Given the description of an element on the screen output the (x, y) to click on. 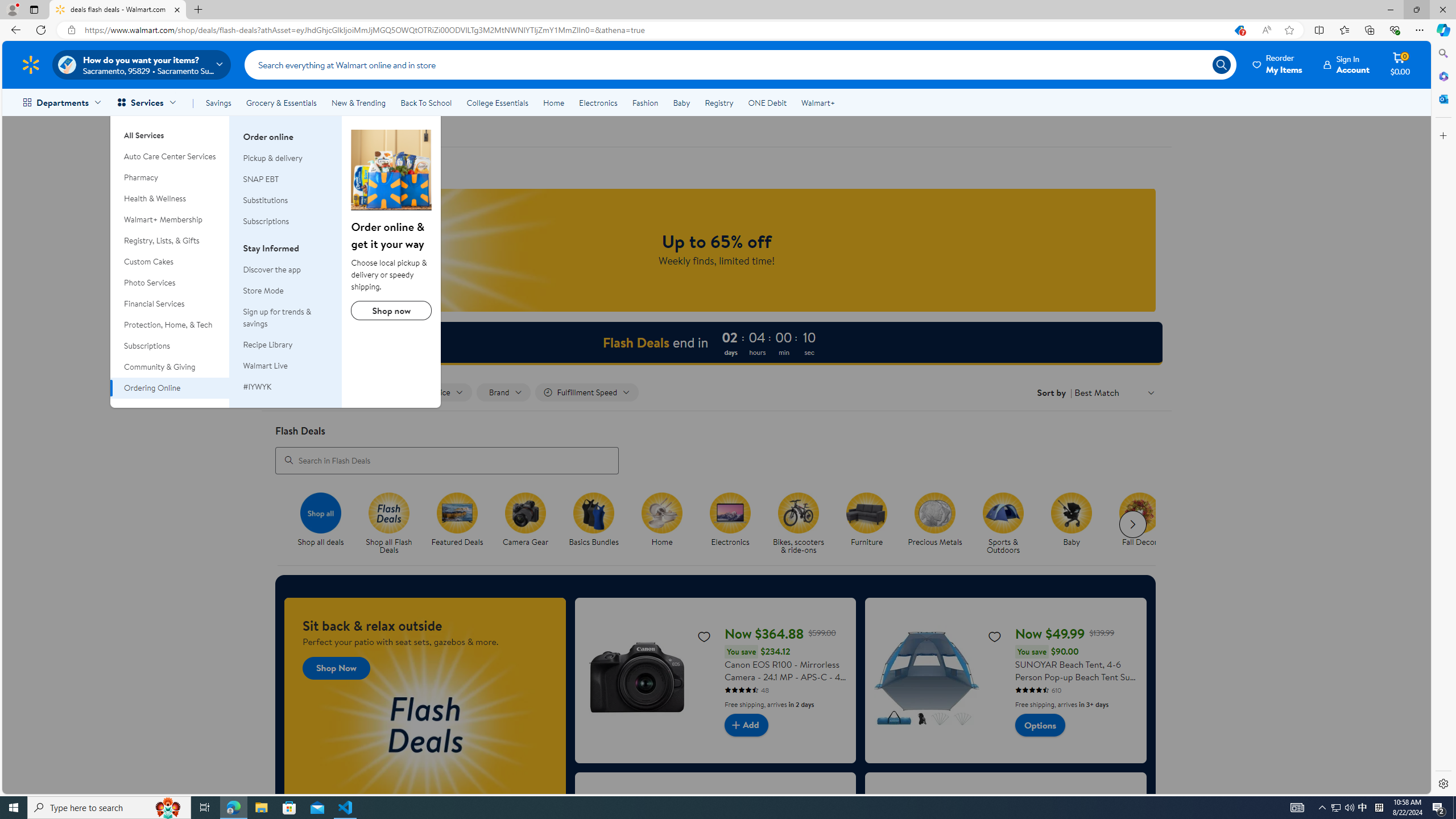
Health & Wellness (170, 198)
Furniture Furniture (866, 519)
Fall Decor (1139, 512)
Recipe Library (286, 344)
#IYWYK (286, 386)
Sports & Outdoors Sports & Outdoors (1003, 524)
Financial Services (170, 303)
Home Home (661, 519)
Shop Now (335, 667)
Sign up for trends & savings (286, 318)
Registry (718, 102)
Search icon (1220, 64)
Photo Services (170, 282)
